Given the description of an element on the screen output the (x, y) to click on. 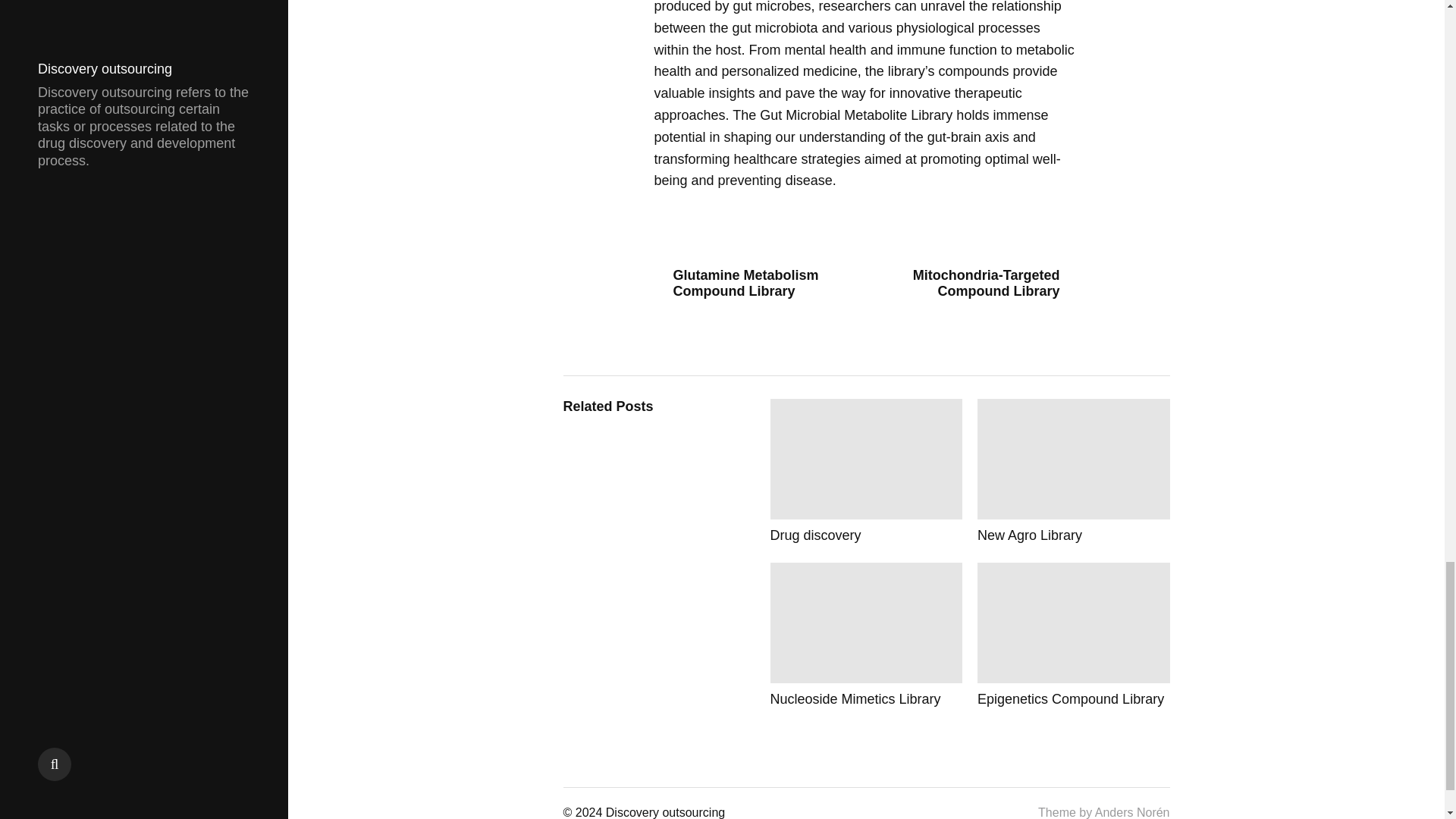
Nucleoside Mimetics Library (866, 634)
New Agro Library (1073, 470)
Epigenetics Compound Library (1073, 634)
Drug discovery (866, 470)
Glutamine Metabolism Compound Library (753, 283)
Mitochondria-Targeted Compound Library (977, 283)
